Given the description of an element on the screen output the (x, y) to click on. 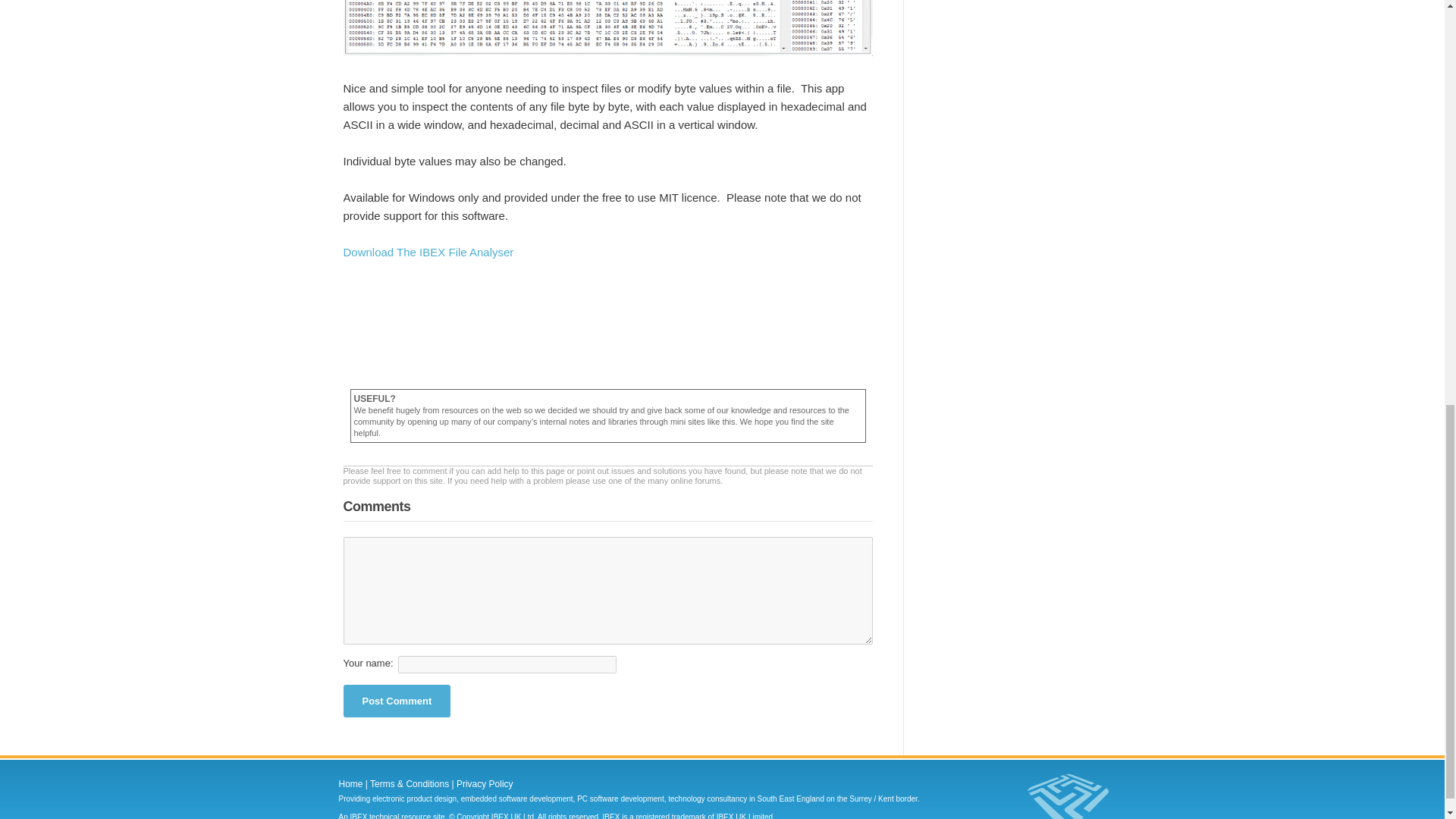
Post Comment (395, 700)
Download The IBEX File Analyser (427, 251)
Post Comment (395, 700)
